Given the description of an element on the screen output the (x, y) to click on. 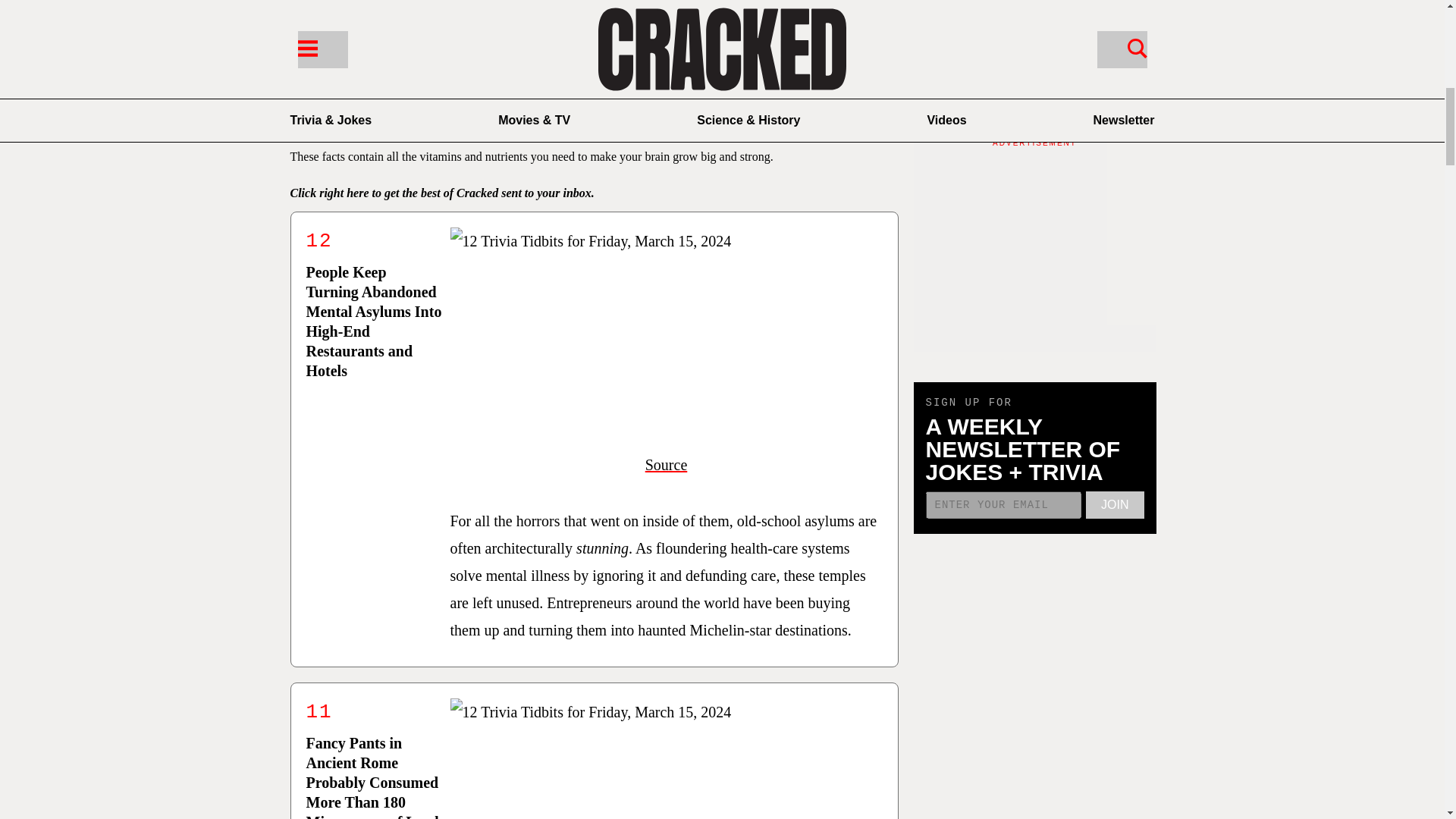
Jesse (388, 91)
Source (666, 464)
vitamins and nutrients (473, 155)
